Given the description of an element on the screen output the (x, y) to click on. 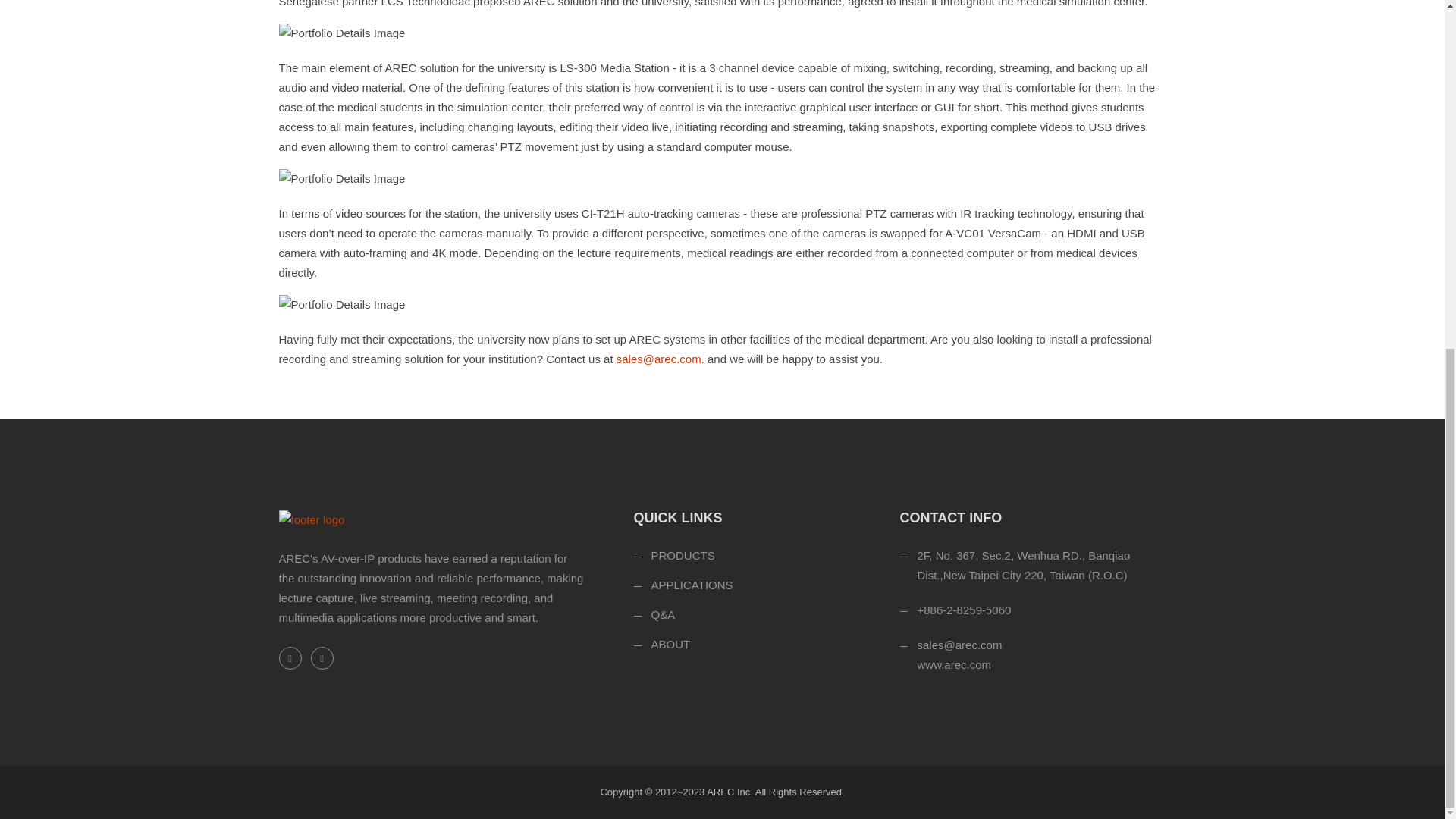
ABOUT (670, 644)
www.arec.com (954, 664)
APPLICATIONS (691, 584)
PRODUCTS (682, 554)
